Given the description of an element on the screen output the (x, y) to click on. 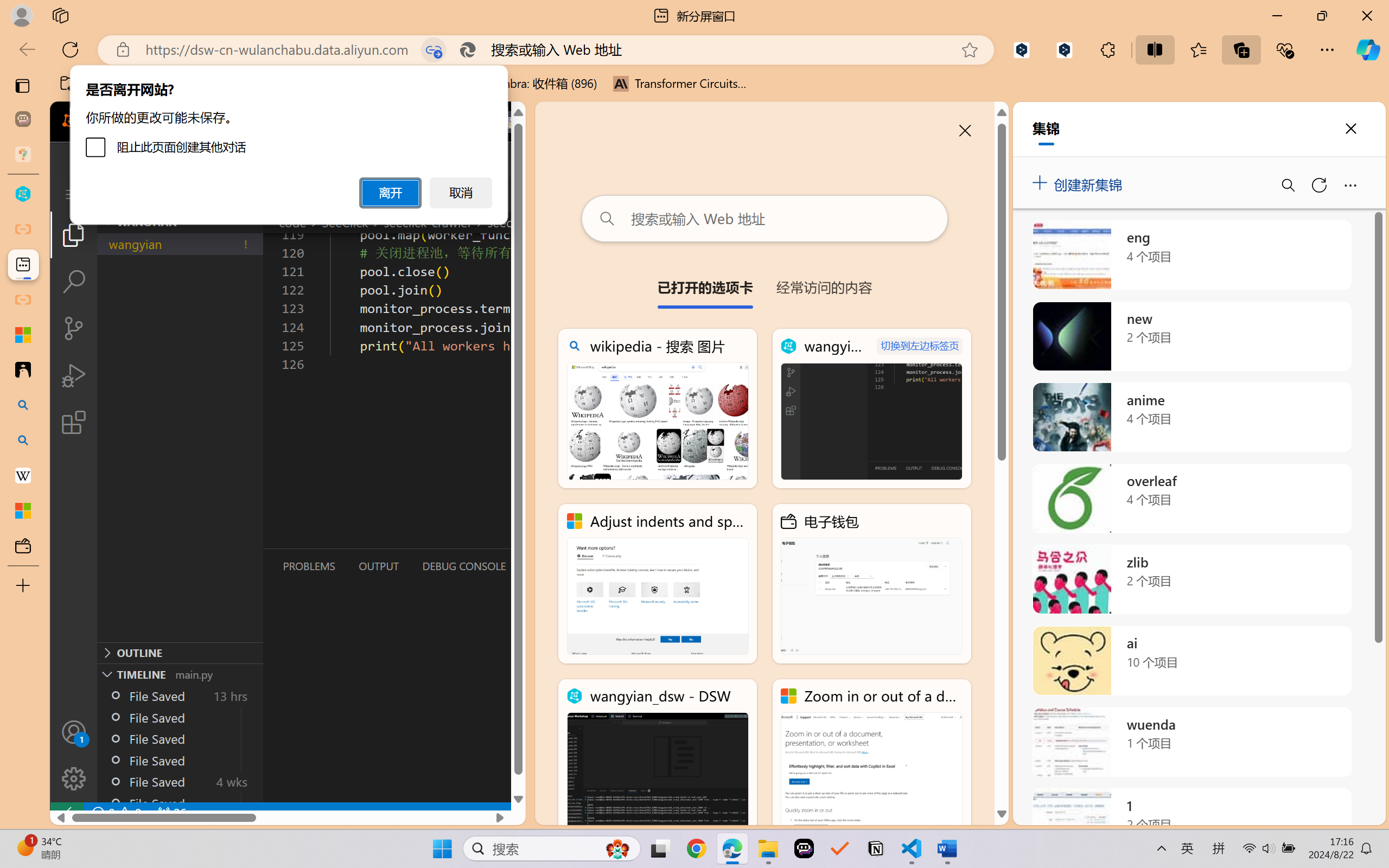
Insert Captions (535, 62)
Insert Captions (535, 51)
Zoom 60% (1364, 837)
Text Highlight Color (96, 51)
Accessibility Help (581, 62)
Reading Order Pane (287, 62)
